Given the description of an element on the screen output the (x, y) to click on. 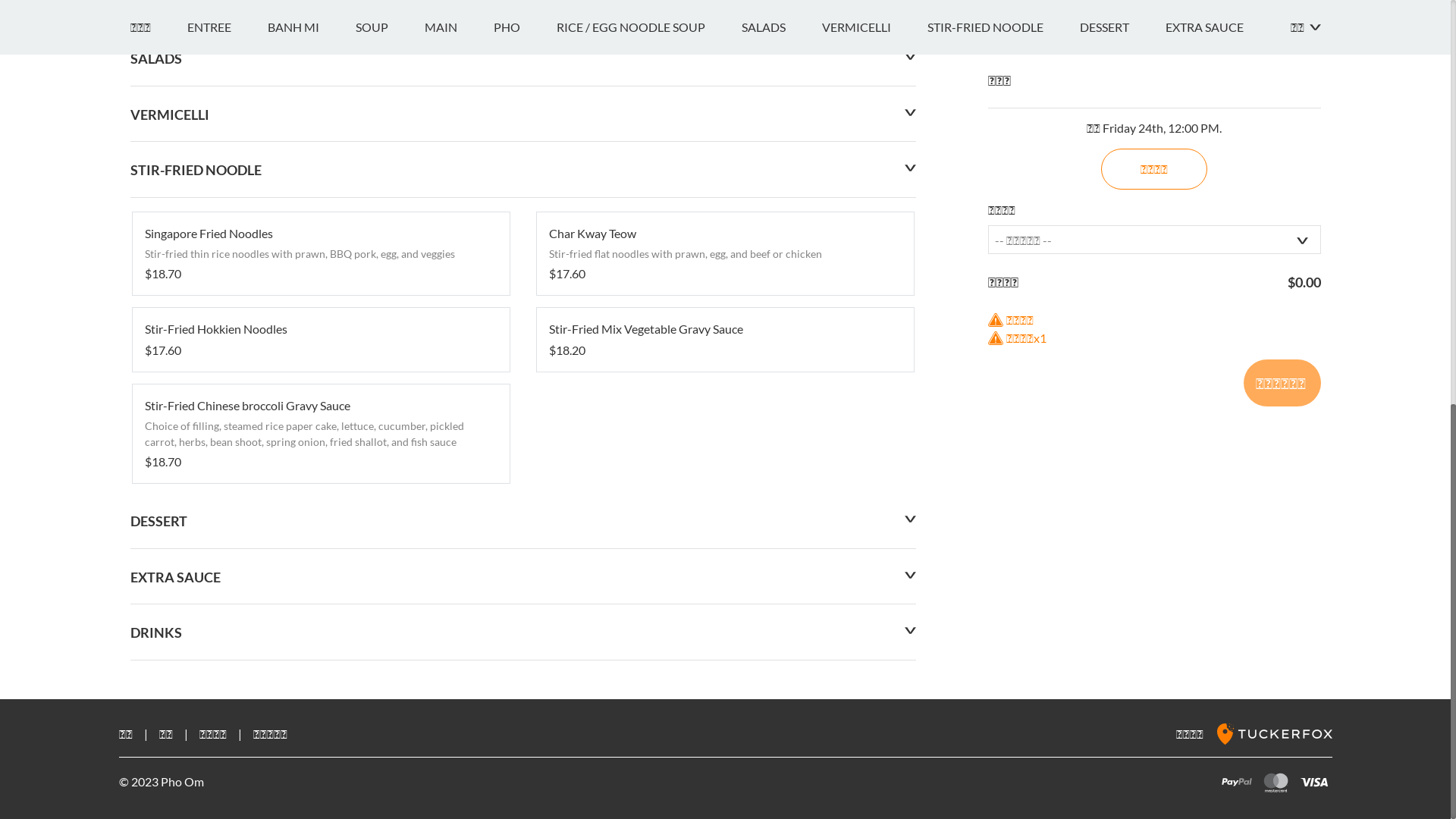
EN Element type: text (138, 16)
Pho Om Element type: text (178, 223)
3.5 Element type: text (146, 278)
